Given the description of an element on the screen output the (x, y) to click on. 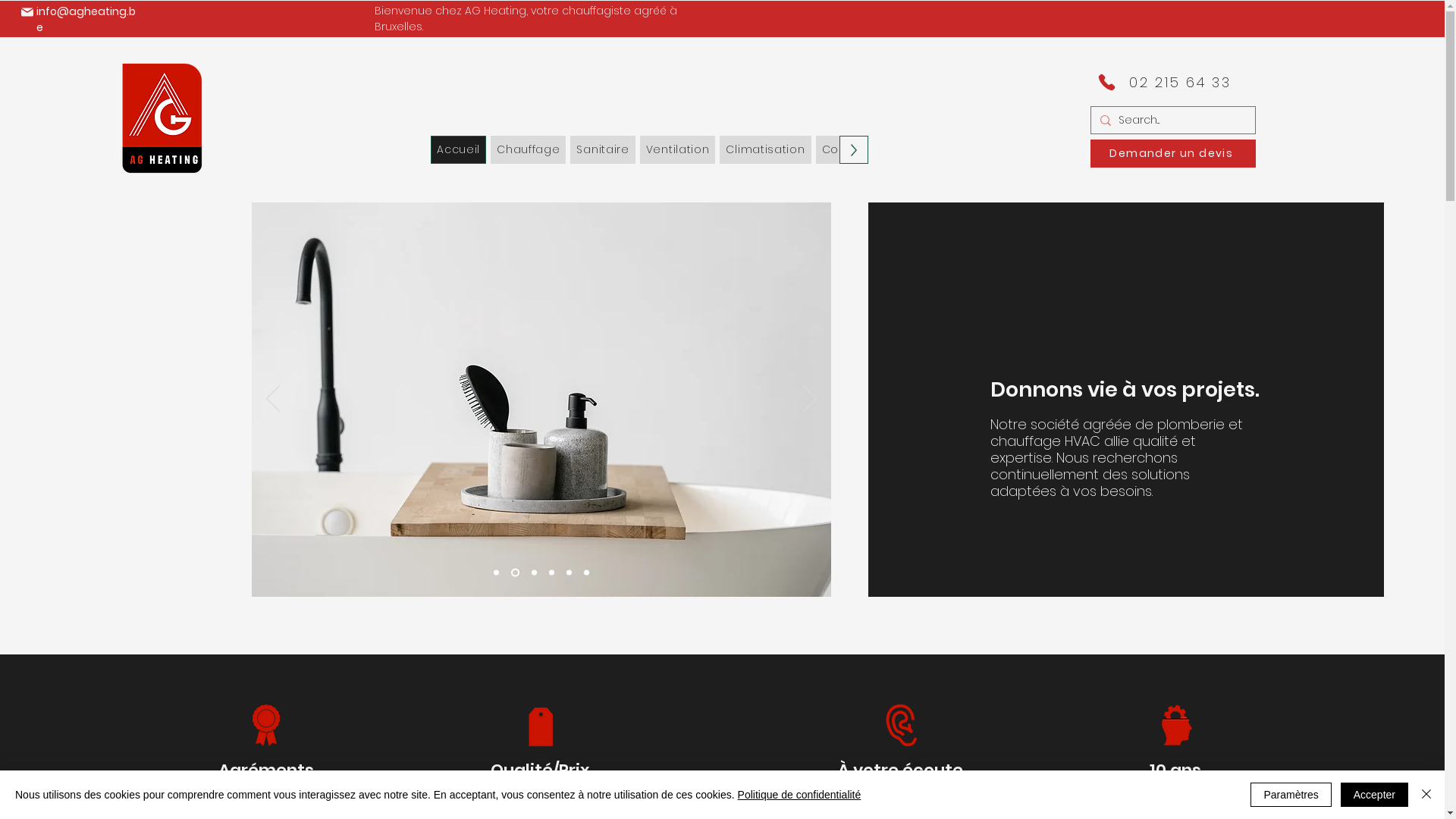
info@agheating.be Element type: text (85, 18)
Demander un devis Element type: text (1172, 153)
Accepter Element type: text (1374, 794)
Chauffage Element type: text (527, 149)
icone site.003.png Element type: hover (266, 724)
Sanitaire Element type: text (602, 149)
02 215 64 33 Element type: text (1179, 81)
Ventilation Element type: text (677, 149)
Log AG HEATING Element type: hover (161, 116)
Contactez-nous Element type: text (1356, 788)
Climatisation Element type: text (764, 149)
Accueil Element type: text (458, 149)
icone site.002.png Element type: hover (900, 724)
Contact Element type: text (845, 149)
